Given the description of an element on the screen output the (x, y) to click on. 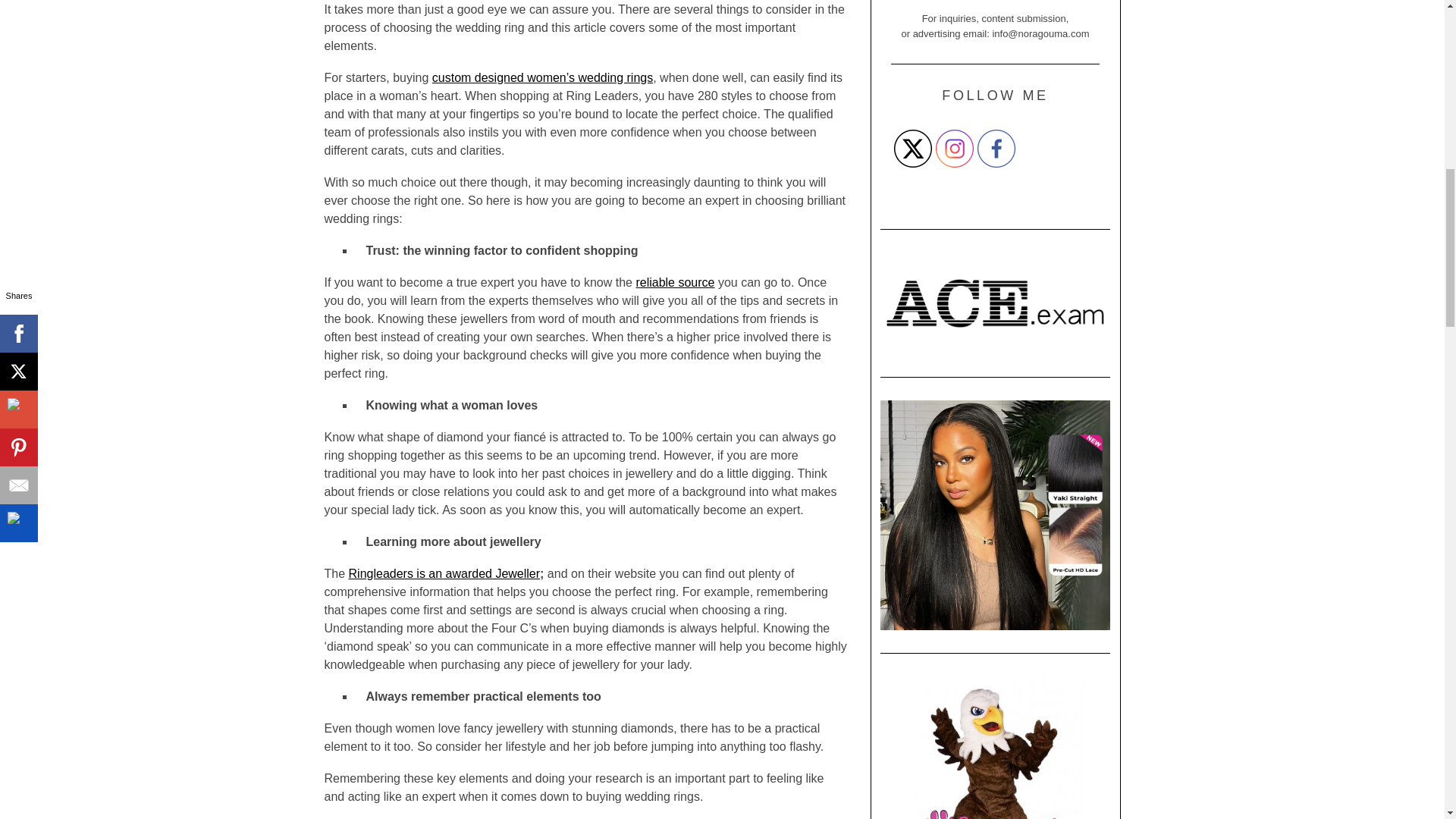
Affordbable Mascot Costumes for Every Event - Buyamascot.com (994, 747)
Twitter (912, 148)
Facebook (995, 148)
Instagram (955, 148)
